Given the description of an element on the screen output the (x, y) to click on. 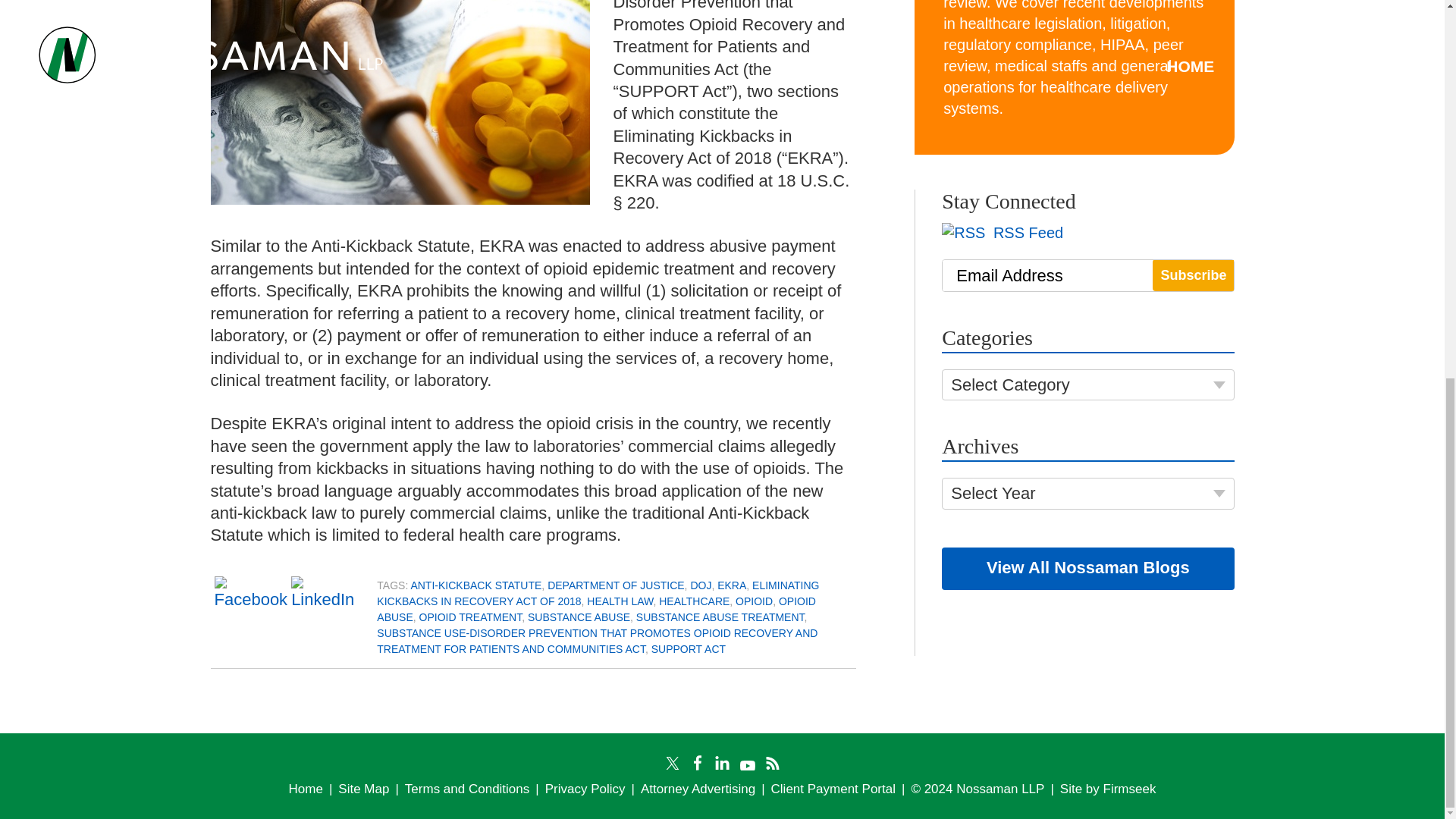
OPIOID ABUSE (596, 609)
HEALTHCARE (694, 601)
SUBSTANCE ABUSE TREATMENT (720, 616)
DEPARTMENT OF JUSTICE (615, 585)
Select Year (1087, 493)
Select Category (1087, 384)
EKRA (731, 585)
View All Nossaman Blogs (1087, 568)
ANTI-KICKBACK STATUTE (475, 585)
ELIMINATING KICKBACKS IN RECOVERY ACT OF 2018 (597, 593)
OPIOID (754, 601)
HEALTH LAW (619, 601)
RSS Feed (1002, 232)
Subscribe (1193, 275)
